Given the description of an element on the screen output the (x, y) to click on. 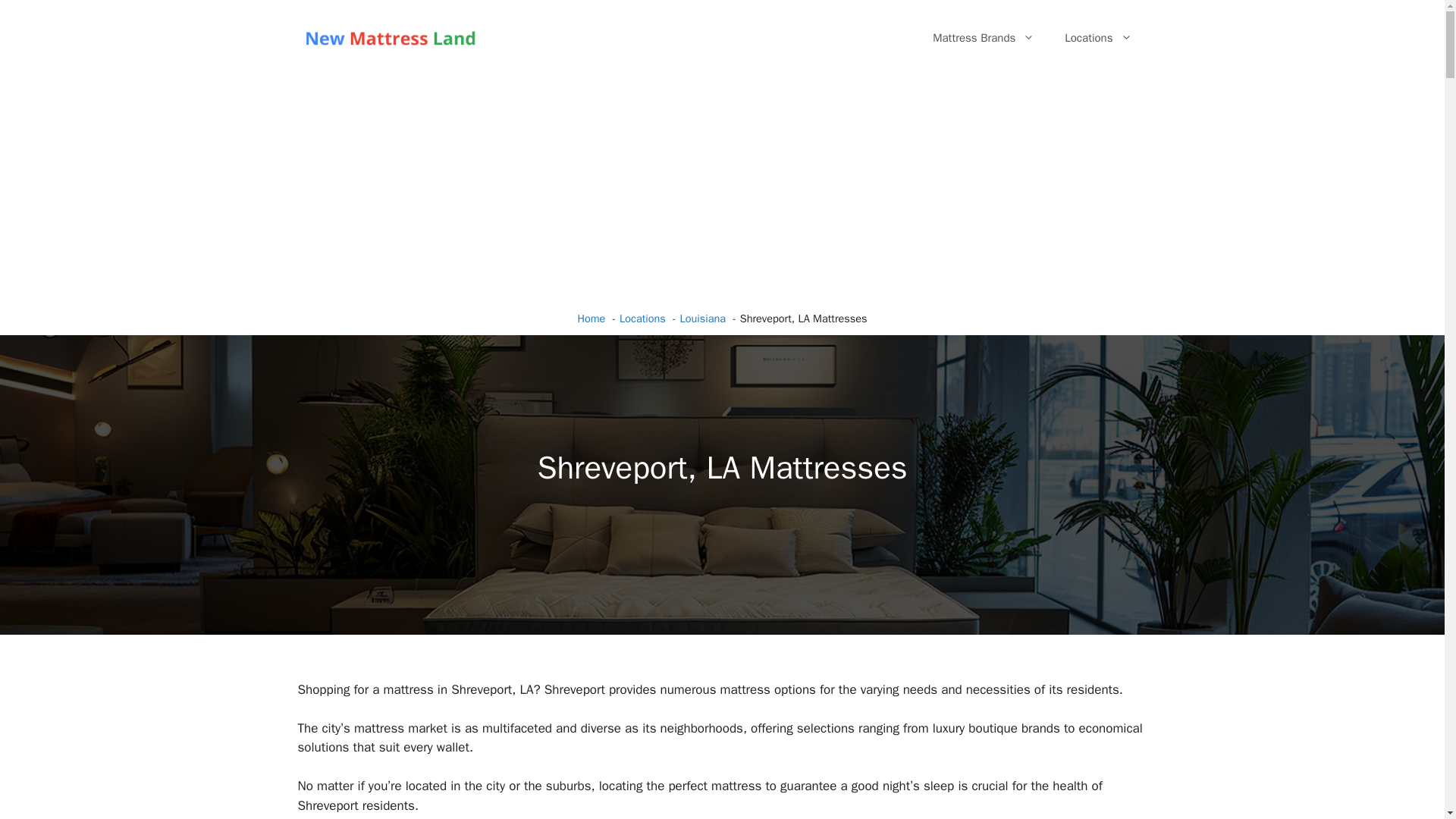
Locations (1098, 37)
Mattress Brands (983, 37)
